Given the description of an element on the screen output the (x, y) to click on. 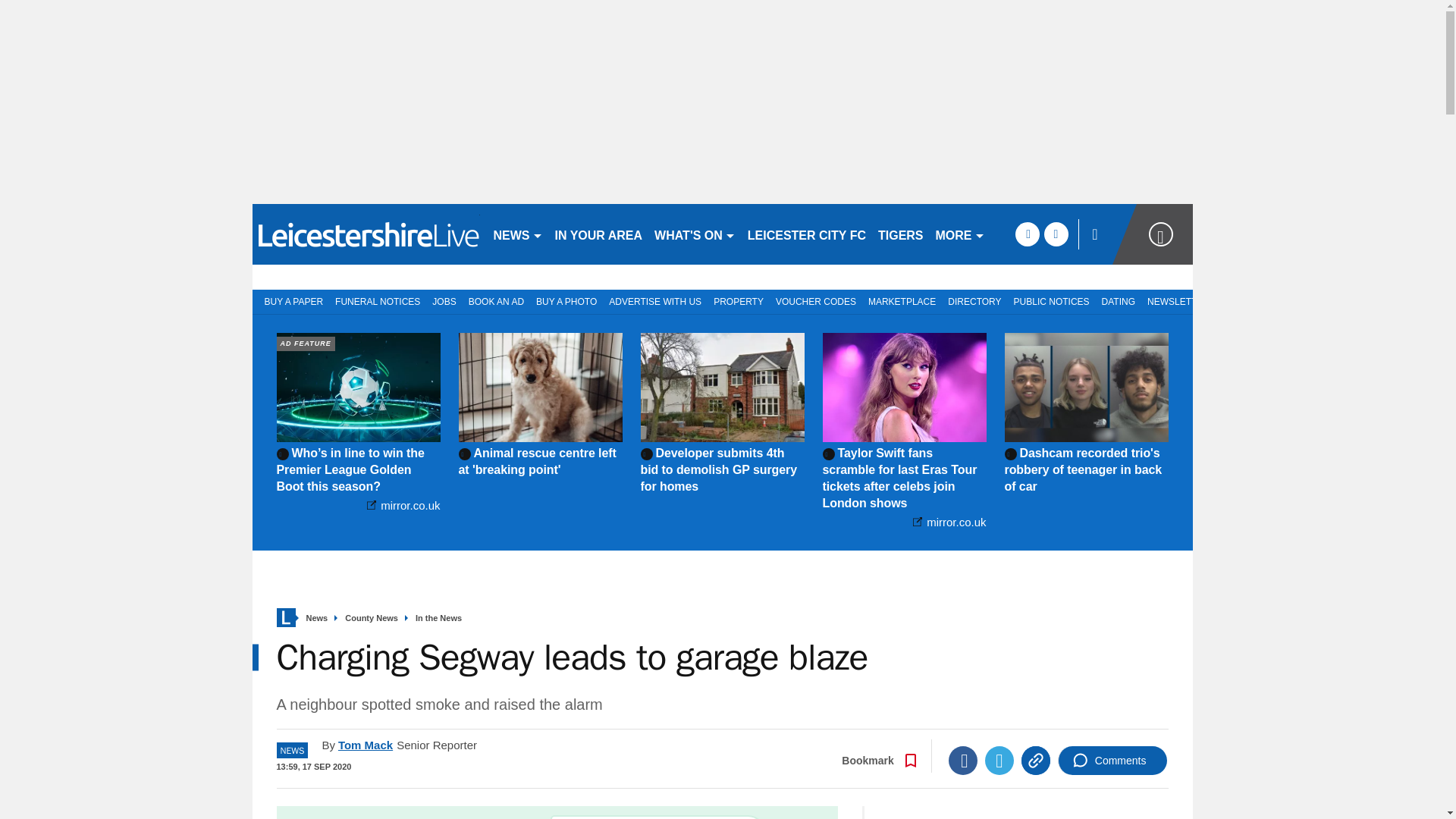
leicestermercury (365, 233)
LEICESTER CITY FC (806, 233)
twitter (1055, 233)
Comments (1112, 760)
Facebook (962, 760)
WHAT'S ON (694, 233)
IN YOUR AREA (598, 233)
facebook (1026, 233)
Twitter (999, 760)
NEWS (517, 233)
